Given the description of an element on the screen output the (x, y) to click on. 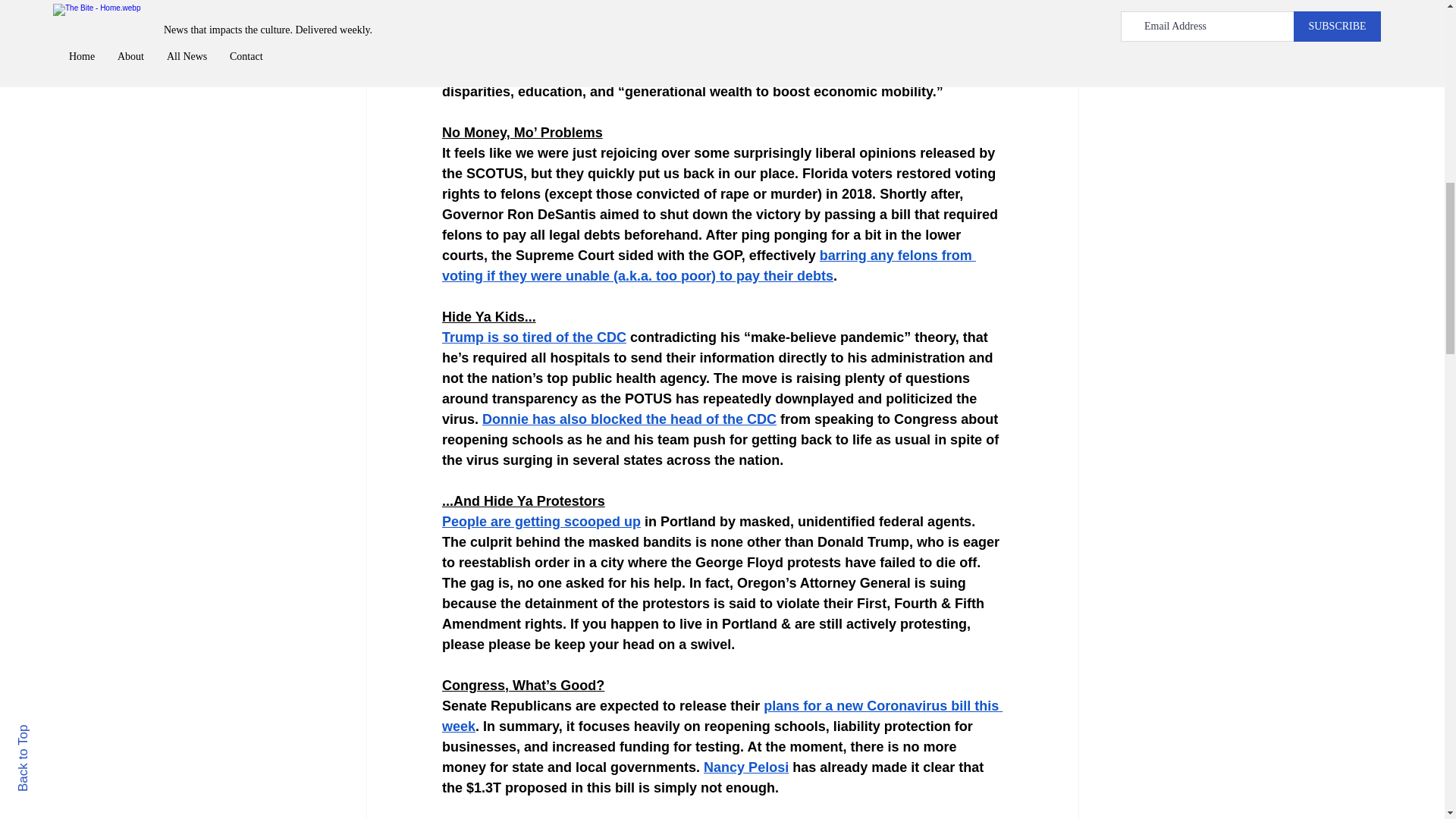
Asheville gets it (492, 29)
People are getting scooped up (540, 521)
Trump is so tired of the CDC (533, 337)
plans for a new Coronavirus bill this week (721, 715)
Donnie has also blocked the head of the CDC (628, 418)
Nancy Pelosi (746, 767)
